Given the description of an element on the screen output the (x, y) to click on. 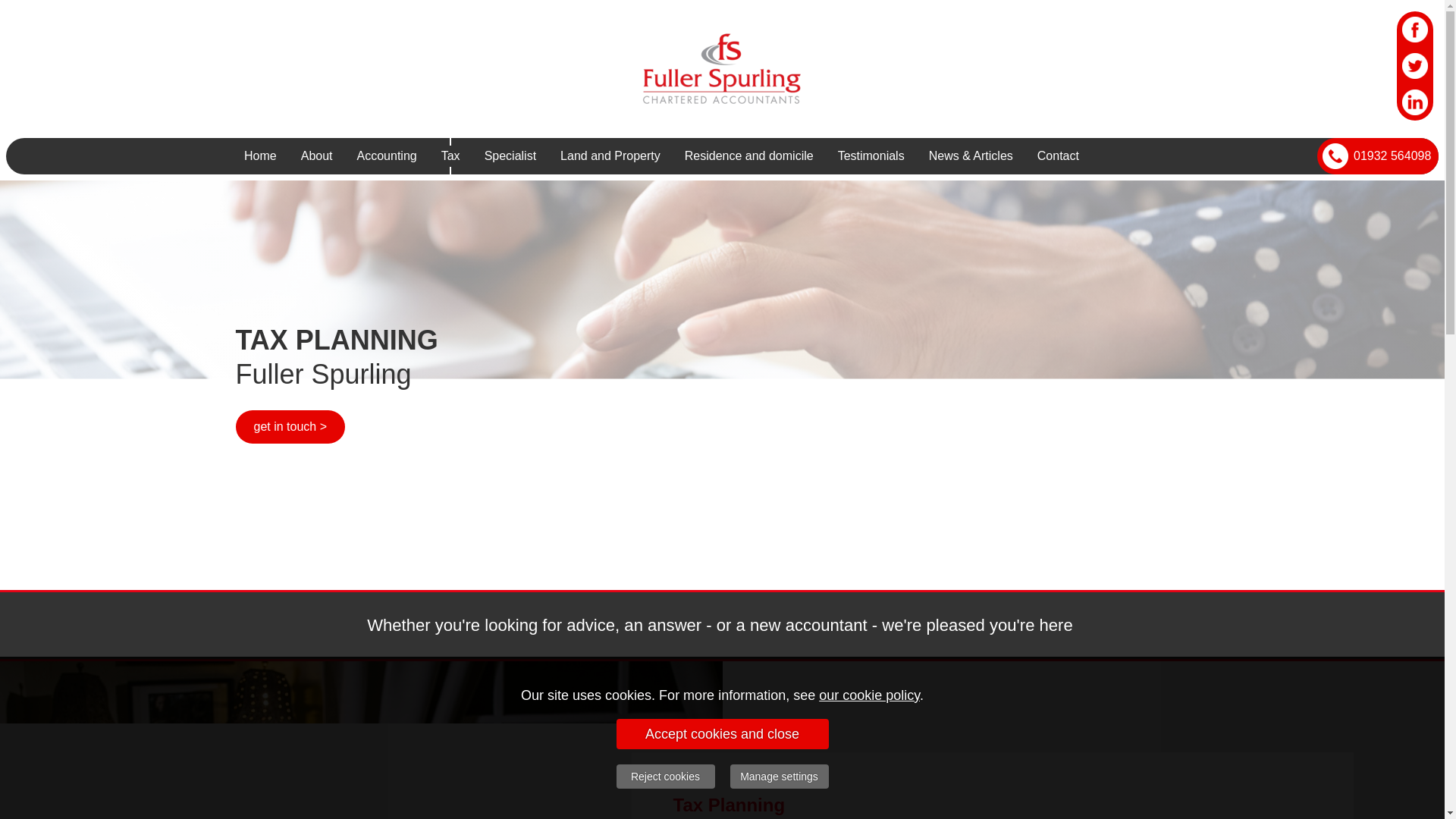
Contact (1057, 156)
About (316, 156)
Testimonials (871, 156)
Home (259, 156)
Accounting (387, 156)
Tax (450, 156)
Residence and domicile (748, 156)
Land and Property (610, 156)
